Given the description of an element on the screen output the (x, y) to click on. 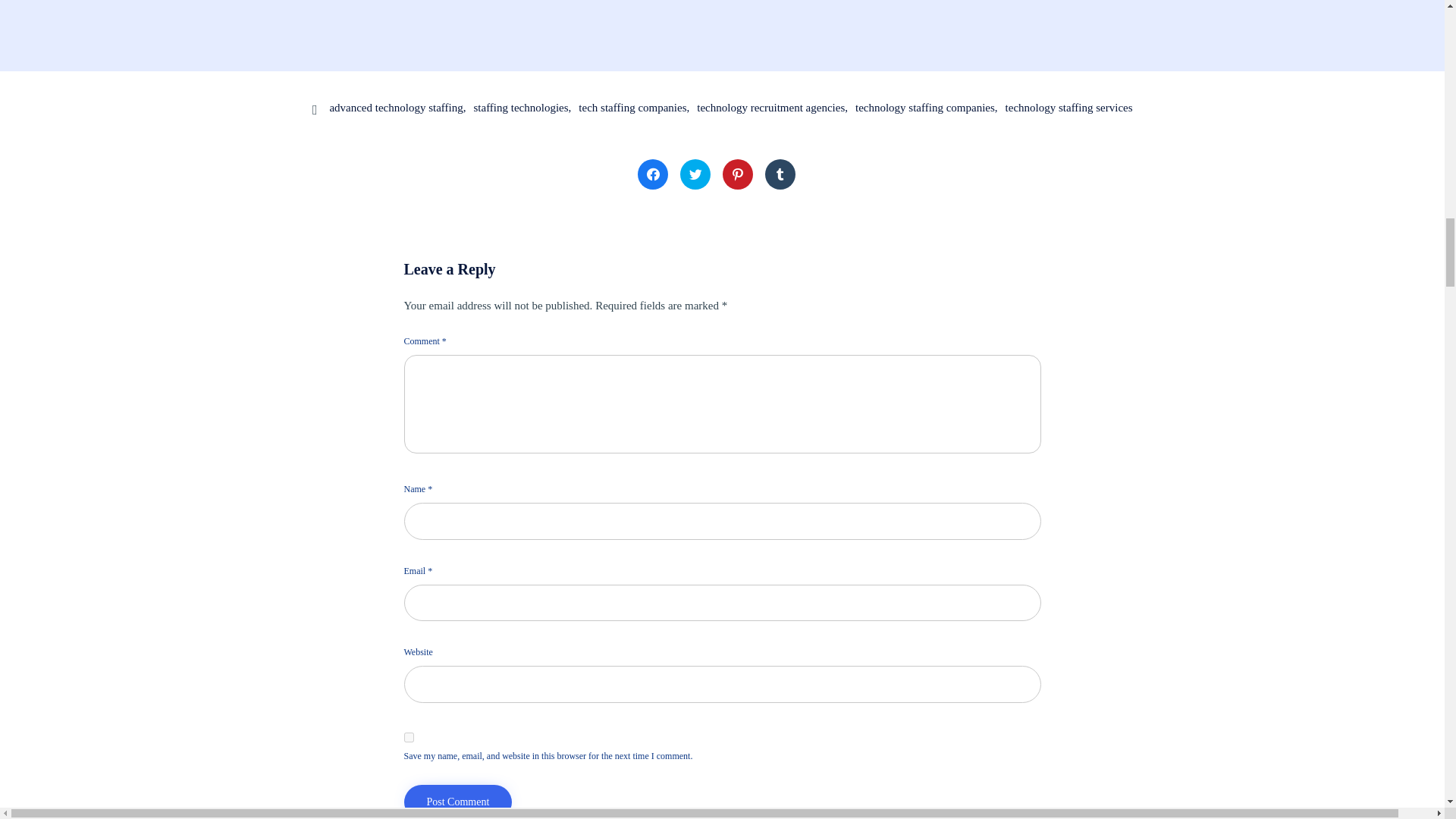
yes (408, 737)
Click to share on Facebook (651, 173)
Click to share on Tumblr (779, 173)
Click to share on Pinterest (737, 173)
Post Comment (457, 801)
Click to share on Twitter (694, 173)
